Given the description of an element on the screen output the (x, y) to click on. 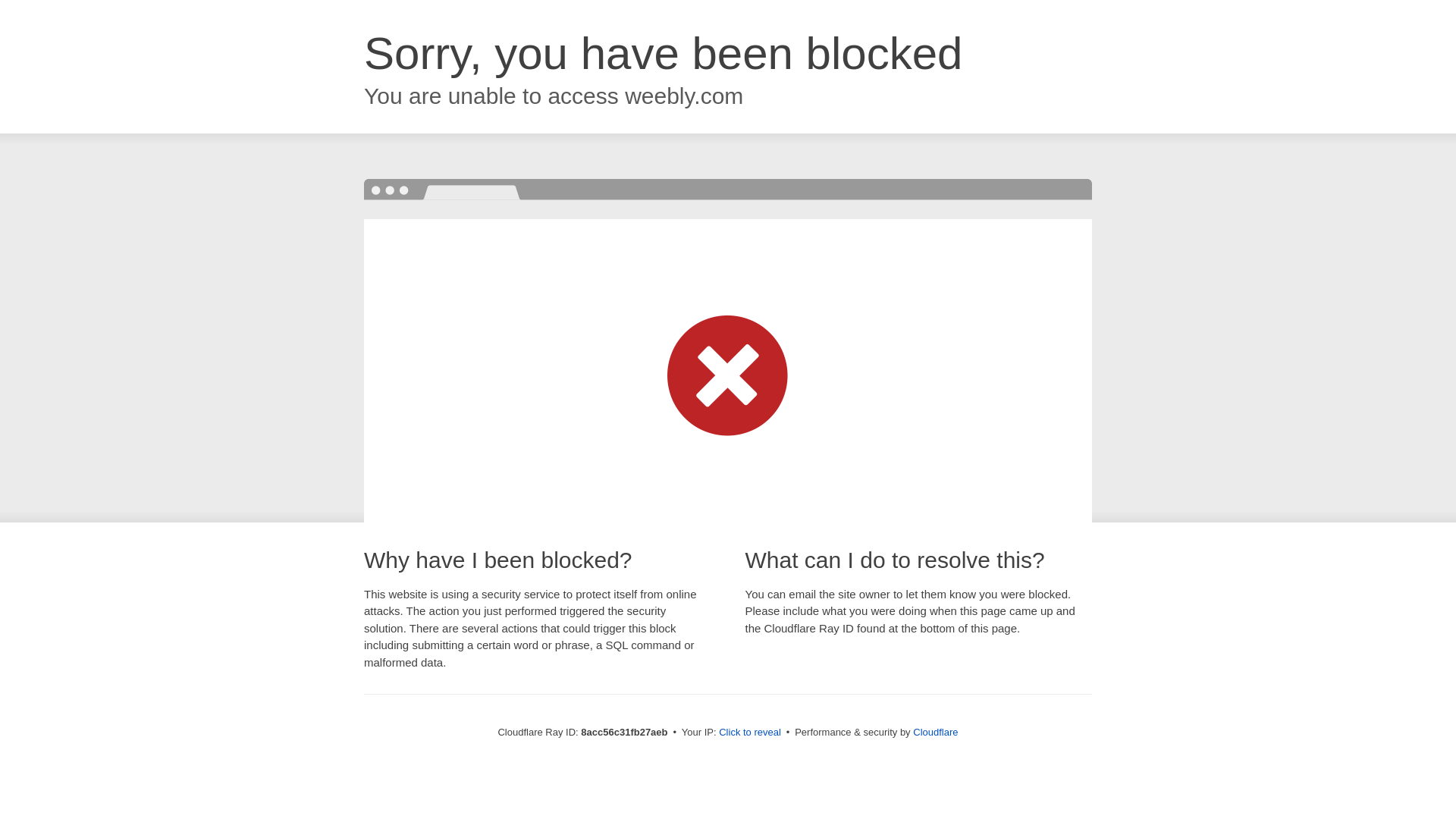
Cloudflare (935, 731)
Click to reveal (749, 732)
